Given the description of an element on the screen output the (x, y) to click on. 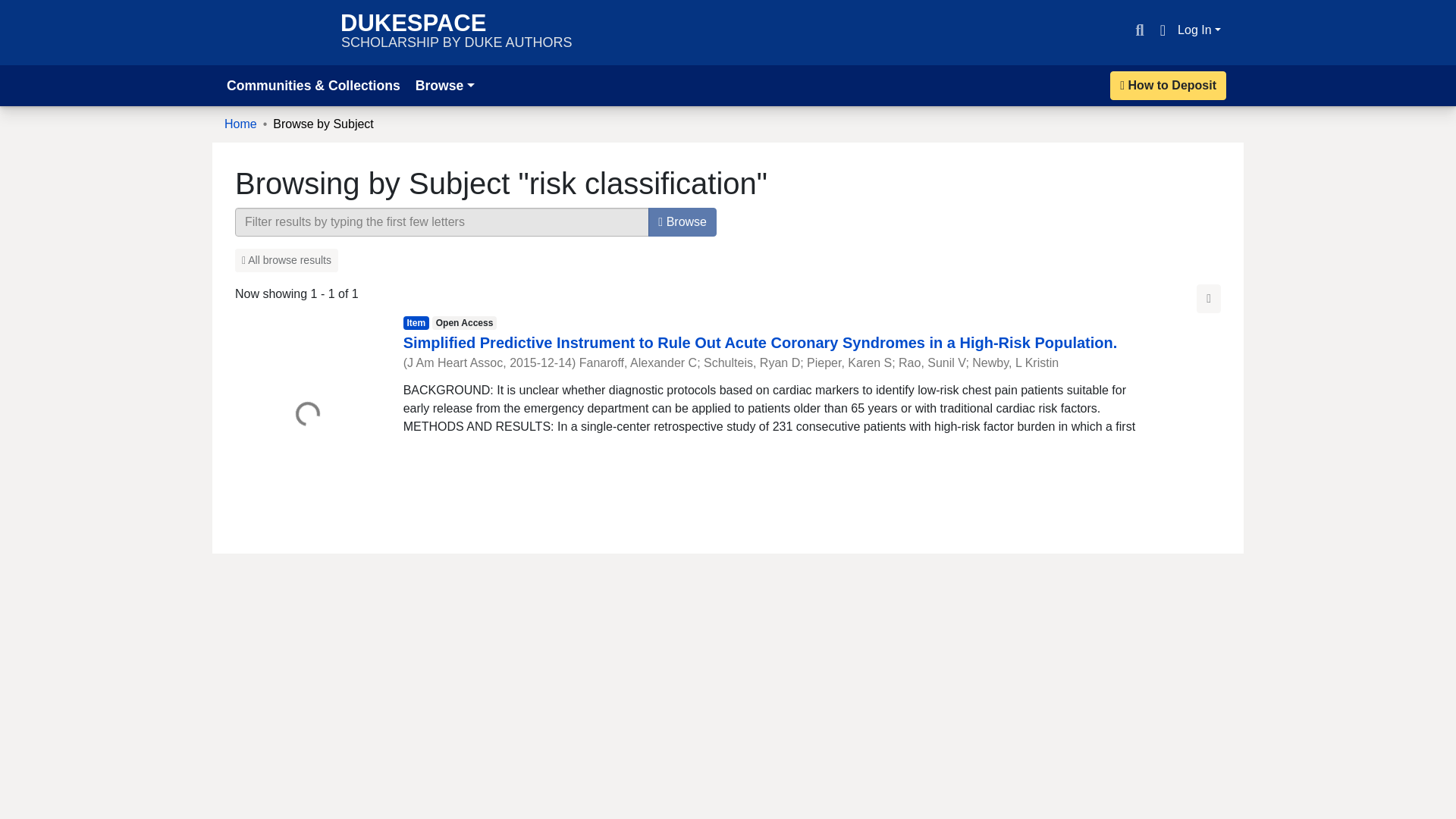
Language switch (1162, 30)
Browse (681, 222)
Search (1138, 30)
Duke University Libraries (274, 32)
Home (240, 124)
Browse (444, 85)
All browse results (285, 259)
How to Deposit (1167, 85)
Log In (1199, 29)
Skip to Main Content (18, 9)
